Given the description of an element on the screen output the (x, y) to click on. 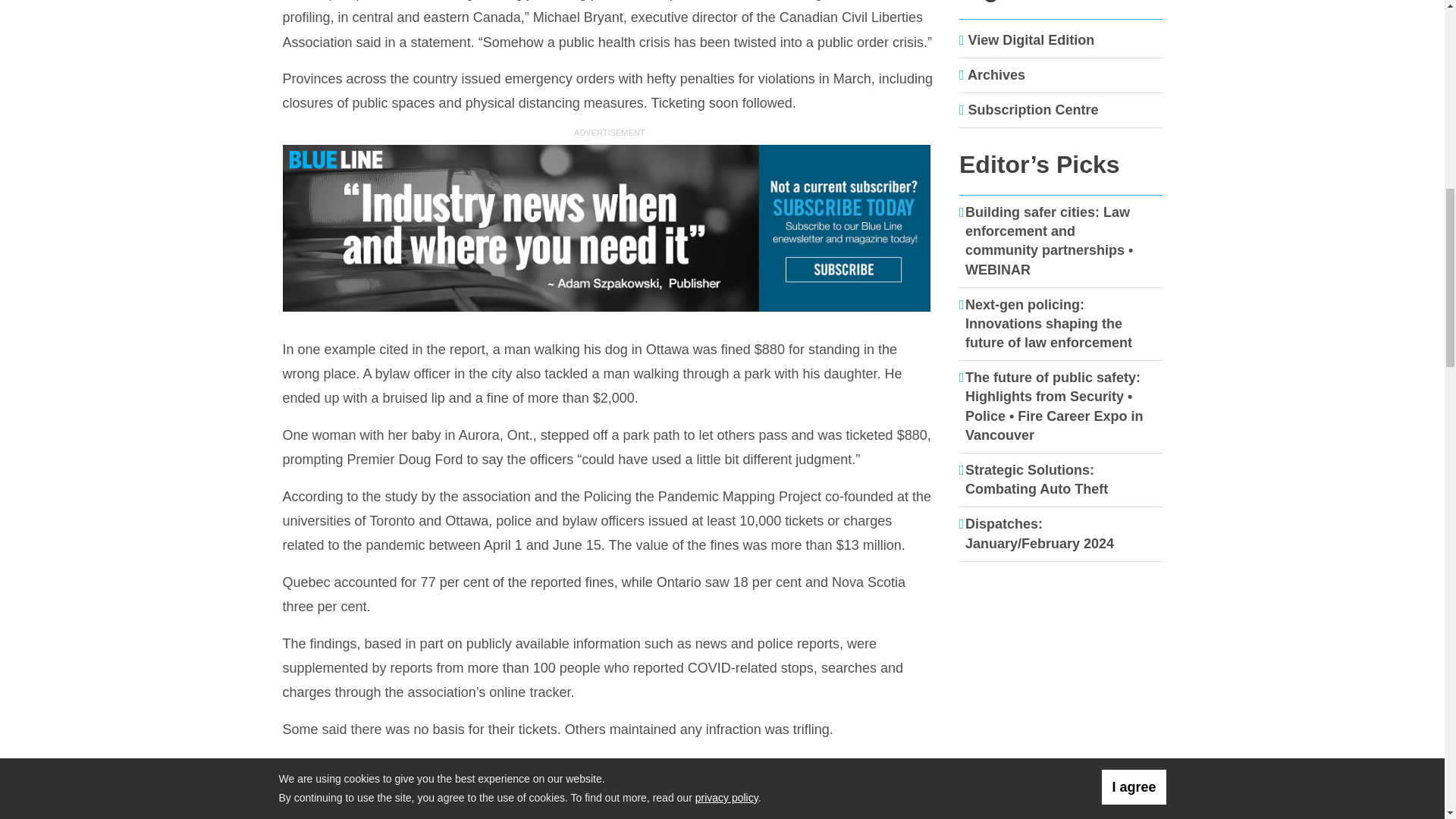
3rd party ad content (1060, 671)
3rd party ad content (609, 229)
3rd party ad content (1060, 796)
